Given the description of an element on the screen output the (x, y) to click on. 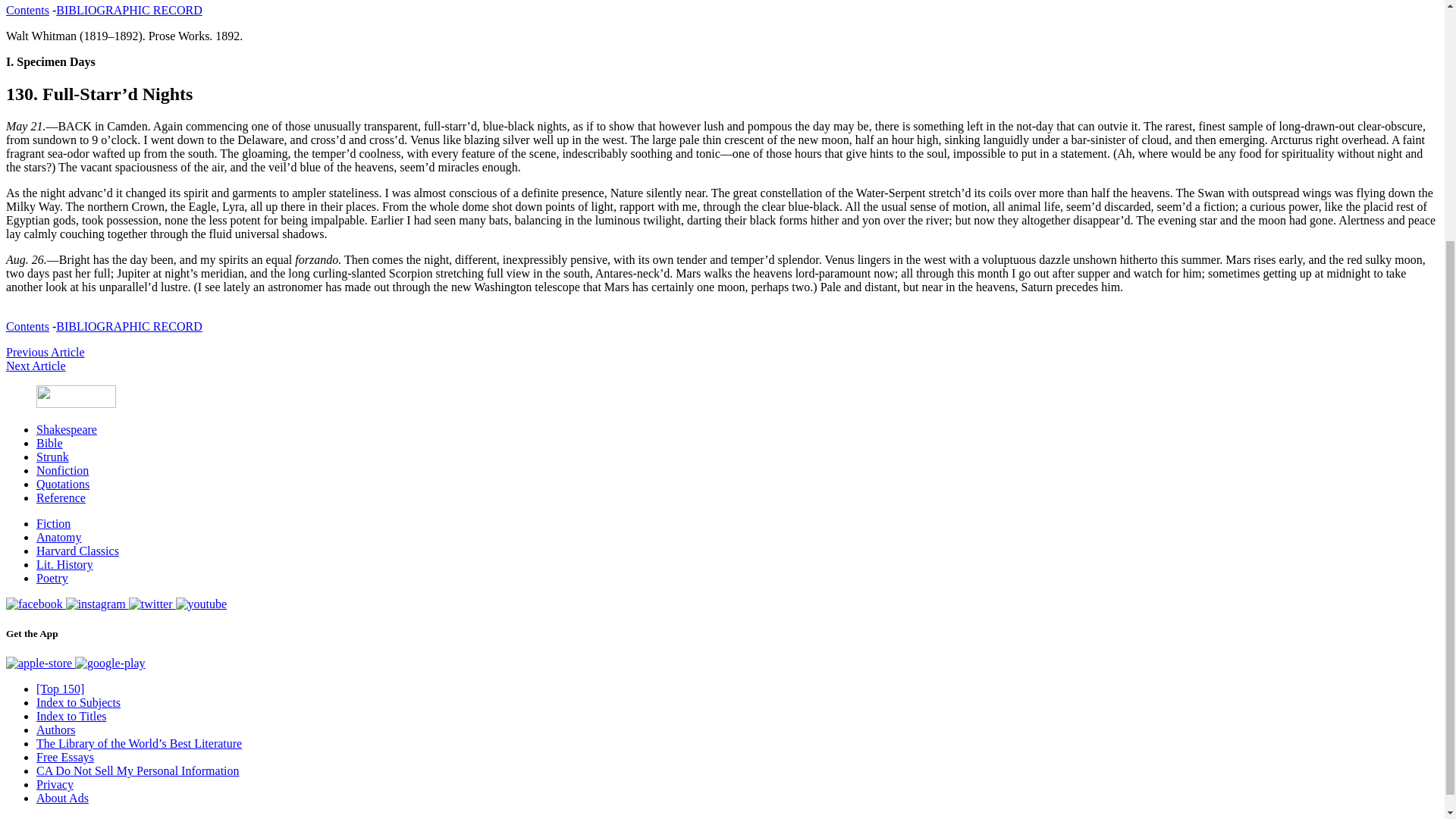
Bible (49, 442)
Previous Article (44, 351)
Contents (27, 326)
Fiction (52, 522)
Nonfiction (62, 470)
Shakespeare (66, 429)
Reference (60, 497)
Strunk (52, 456)
Quotations (62, 483)
Contents (27, 10)
Next Article (35, 365)
Anatomy (58, 536)
BIBLIOGRAPHIC RECORD (129, 326)
Poetry (52, 577)
BIBLIOGRAPHIC RECORD (129, 10)
